Given the description of an element on the screen output the (x, y) to click on. 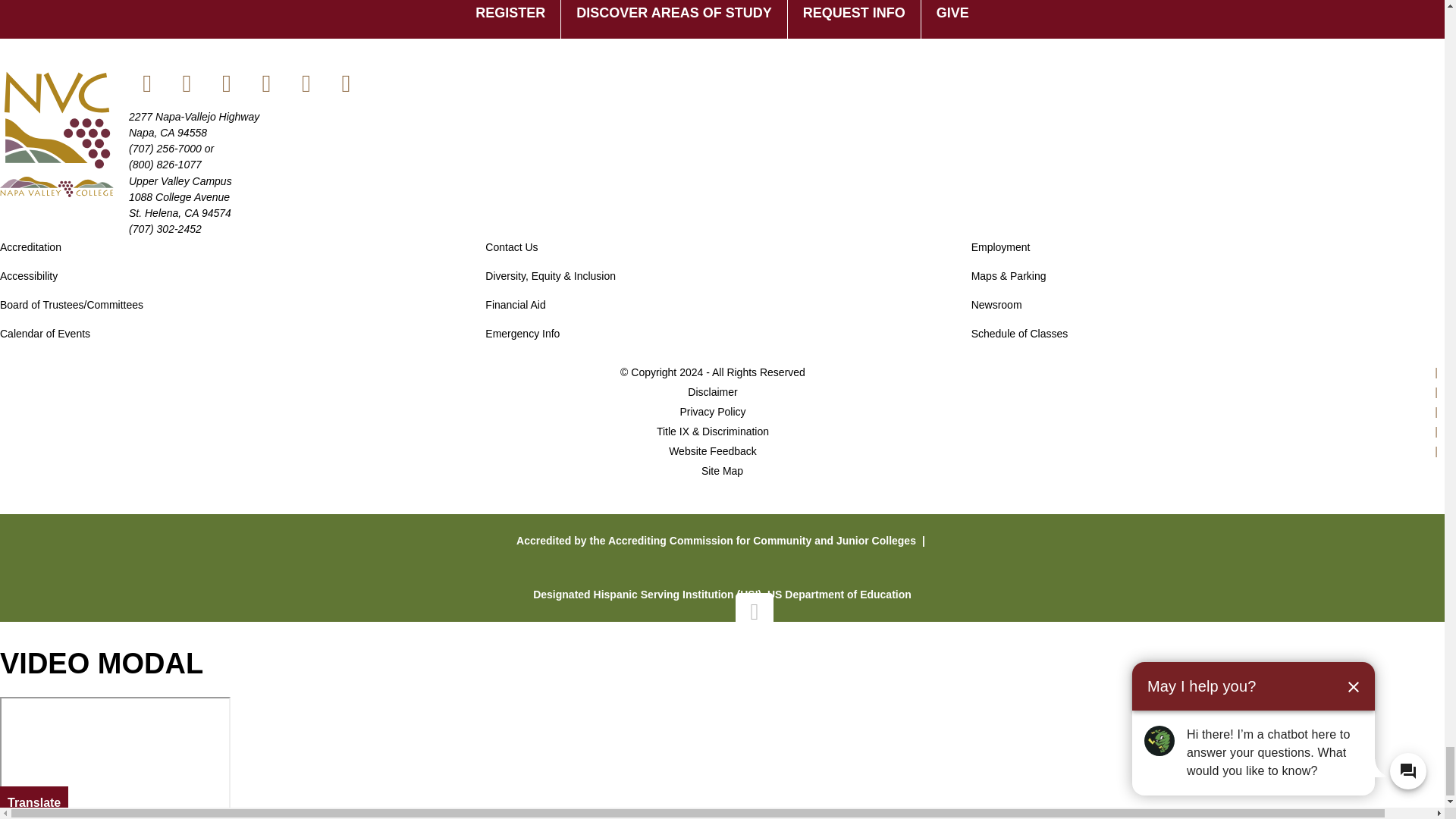
Video (115, 755)
